Given the description of an element on the screen output the (x, y) to click on. 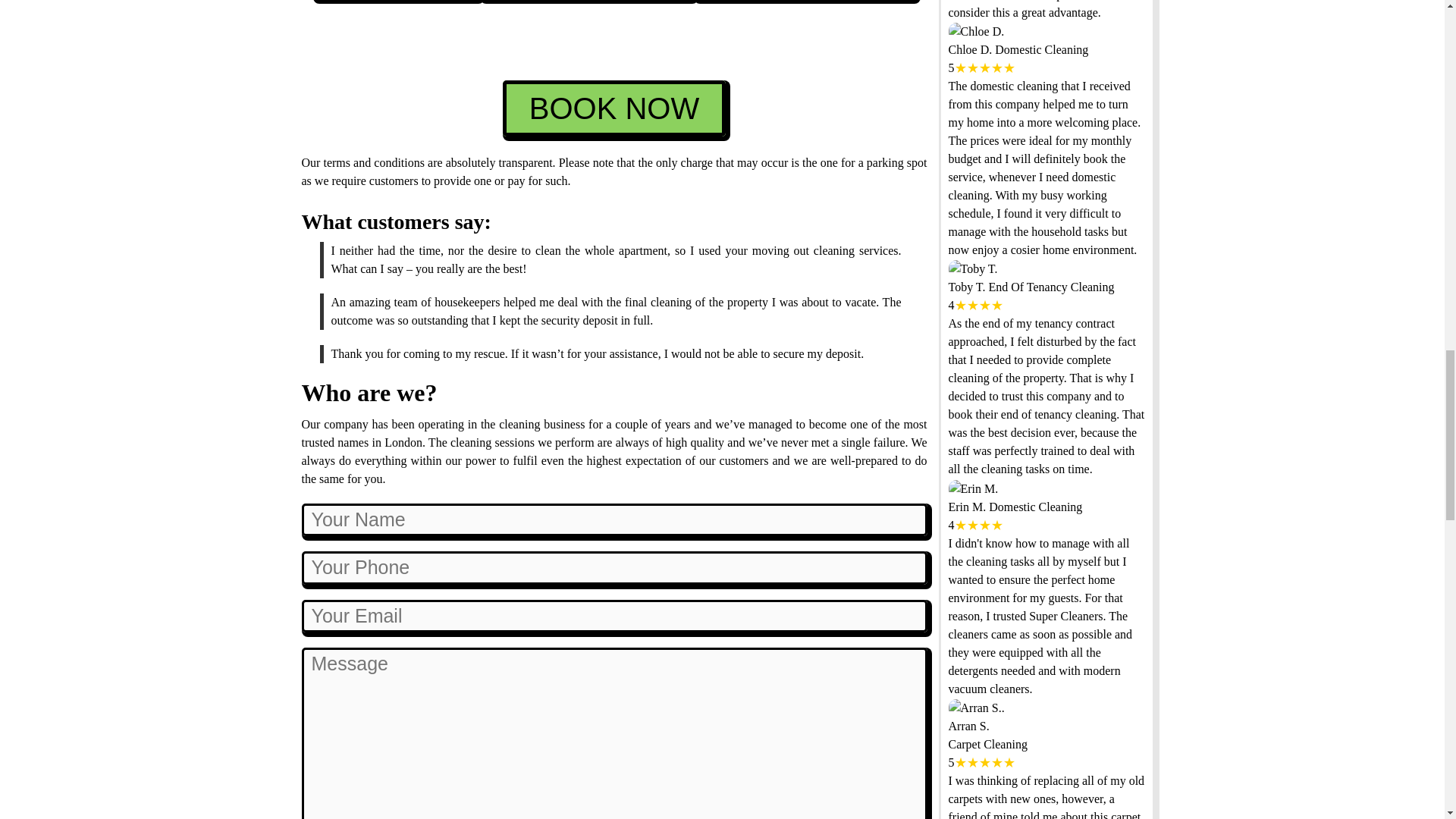
BOOK NOW (613, 108)
